Given the description of an element on the screen output the (x, y) to click on. 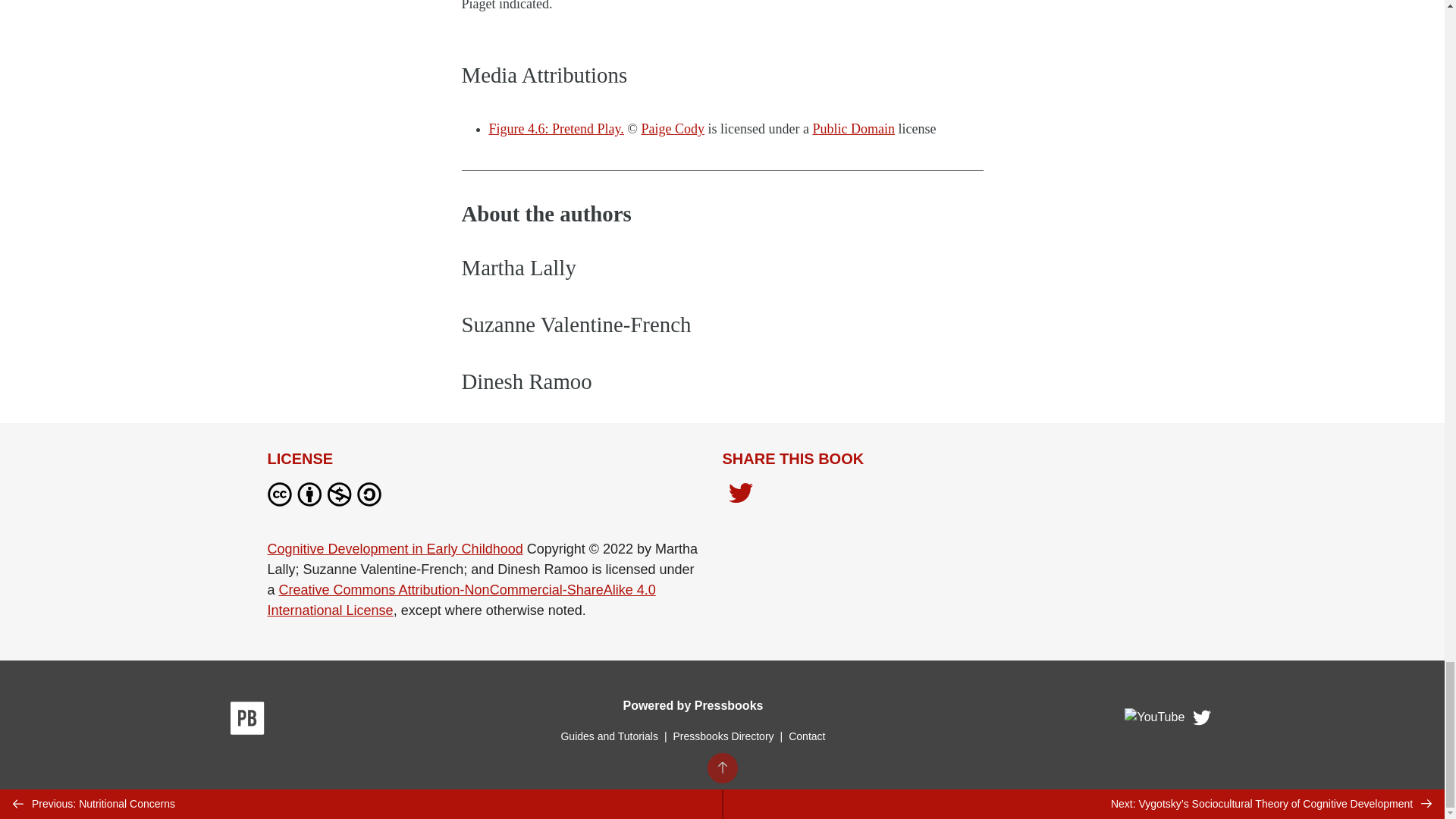
Powered by Pressbooks (692, 705)
Share on Twitter (740, 494)
Public Domain (853, 128)
Figure 4.6: Pretend Play. (555, 128)
Cognitive Development in Early Childhood (394, 548)
Guides and Tutorials (608, 736)
Pressbooks on YouTube (1155, 721)
Share on Twitter (740, 496)
Pressbooks Directory (723, 736)
Contact (807, 736)
Paige Cody (673, 128)
